Given the description of an element on the screen output the (x, y) to click on. 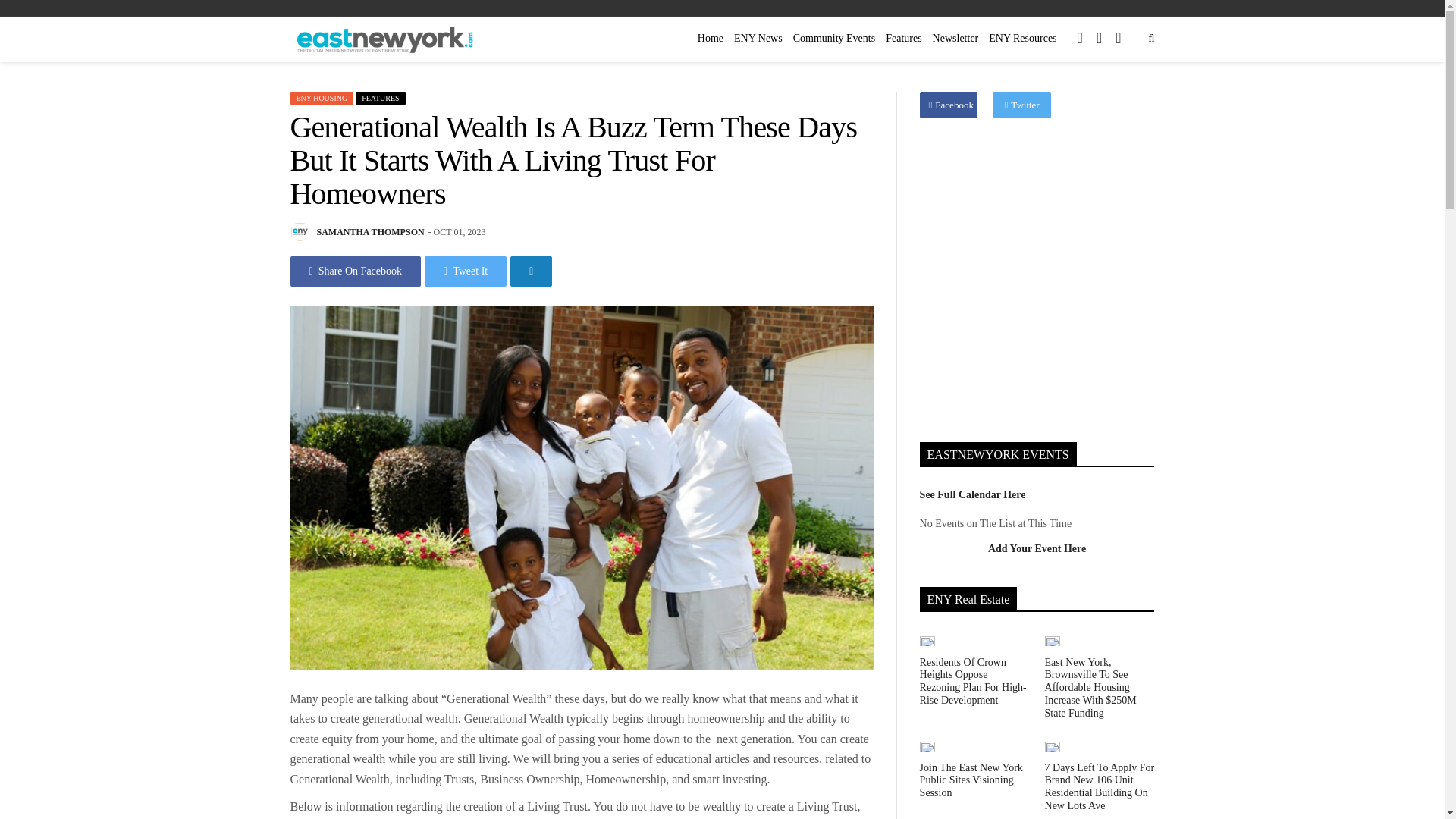
Newsletter (955, 38)
ENY Resources (1022, 38)
Features (903, 38)
Home (711, 38)
ENY News (758, 38)
Posts by Samantha Thompson (371, 231)
Community Events (833, 38)
